Given the description of an element on the screen output the (x, y) to click on. 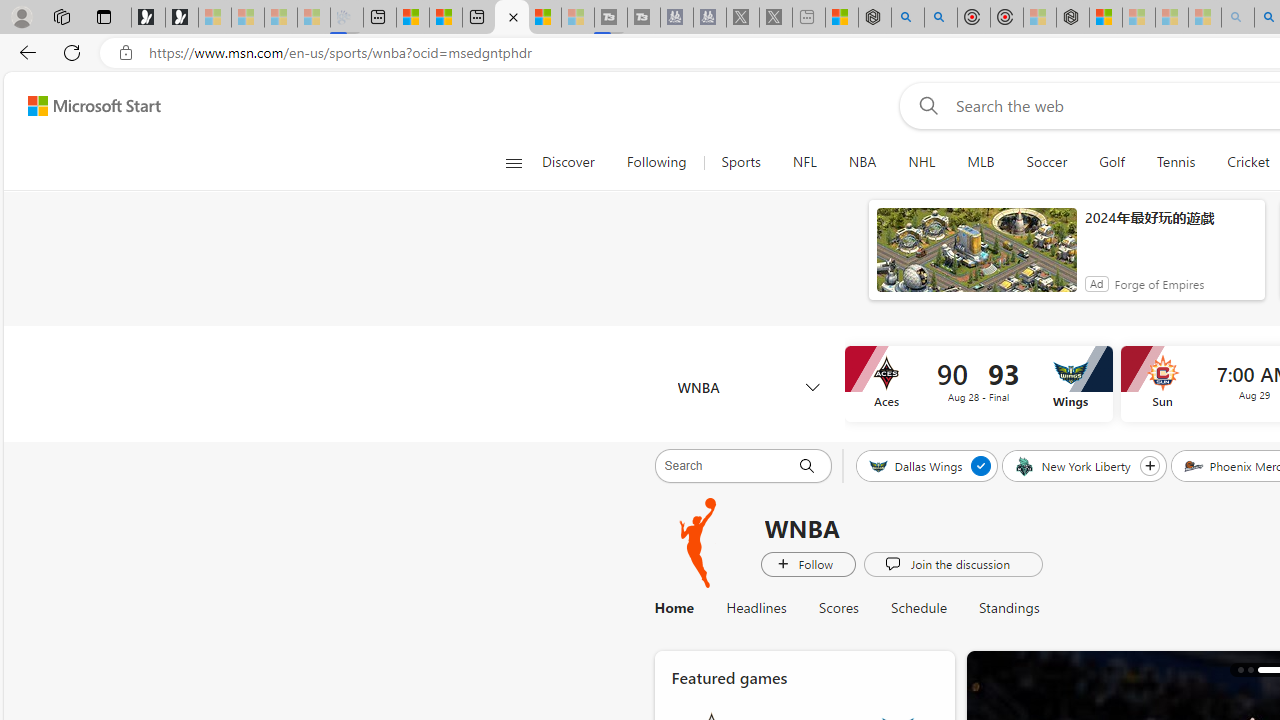
NBA (861, 162)
Standings (1009, 607)
Forge of Empires (1158, 283)
Schedule (919, 607)
New York Liberty (1074, 465)
Home (674, 607)
anim-content (975, 258)
WNBA (699, 543)
Scores (838, 607)
Scores (838, 607)
